Given the description of an element on the screen output the (x, y) to click on. 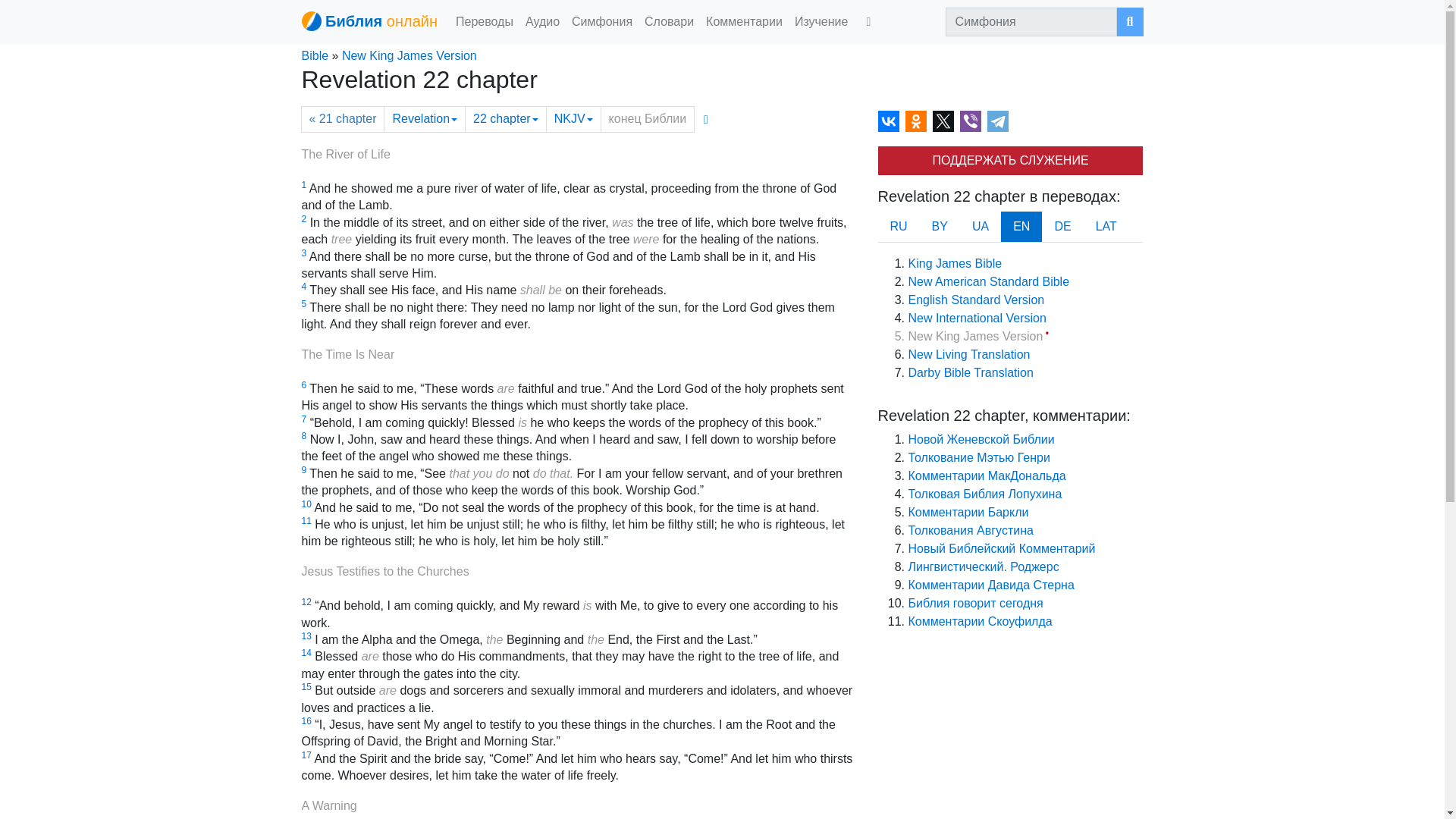
13 (306, 635)
12 (306, 602)
NKJV (573, 119)
11 (306, 520)
Twitter (943, 120)
Viber (970, 120)
Telegram (998, 120)
Bible (315, 55)
New King James Version (409, 55)
10 (306, 503)
